Given the description of an element on the screen output the (x, y) to click on. 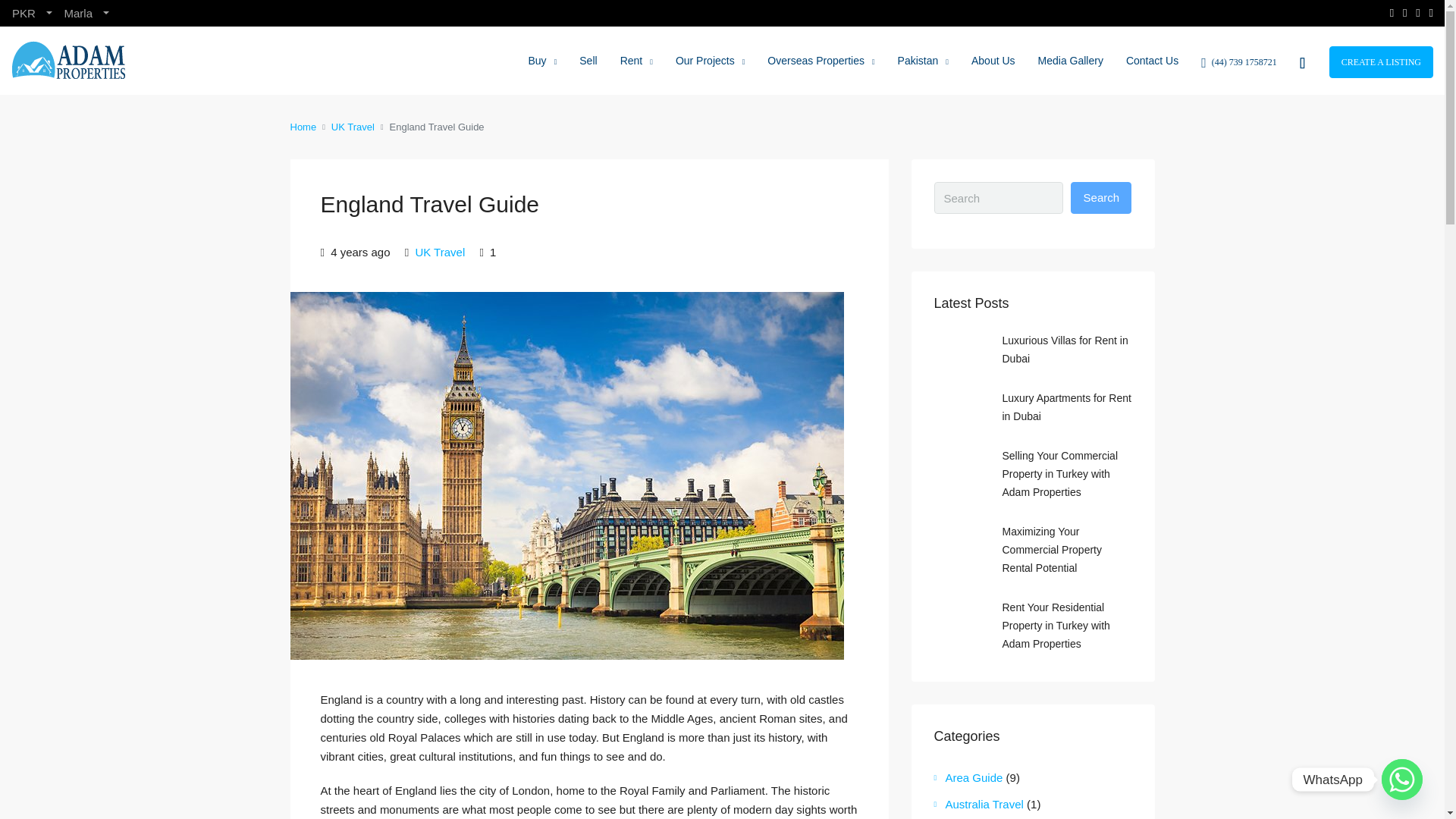
Marla (87, 13)
PKR (31, 13)
